Given the description of an element on the screen output the (x, y) to click on. 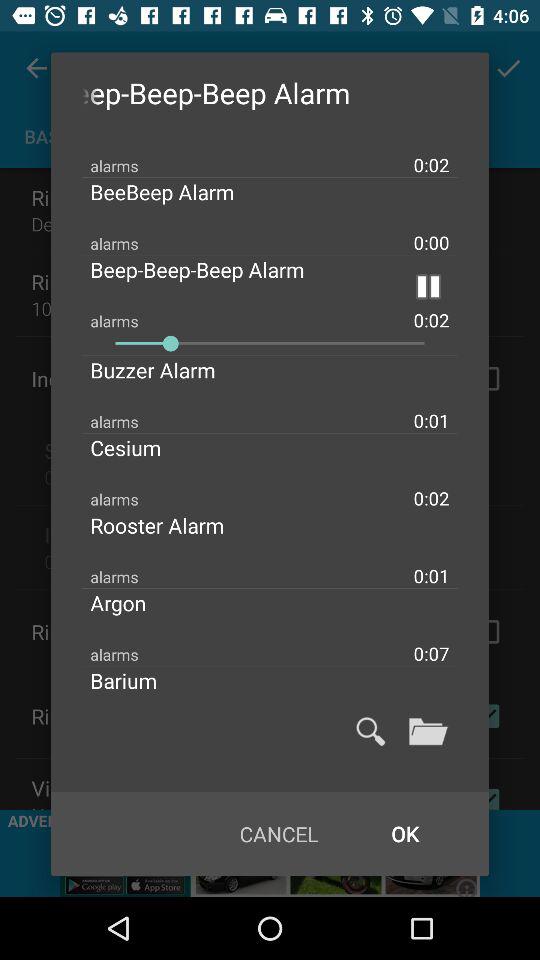
pause audio (428, 286)
